Given the description of an element on the screen output the (x, y) to click on. 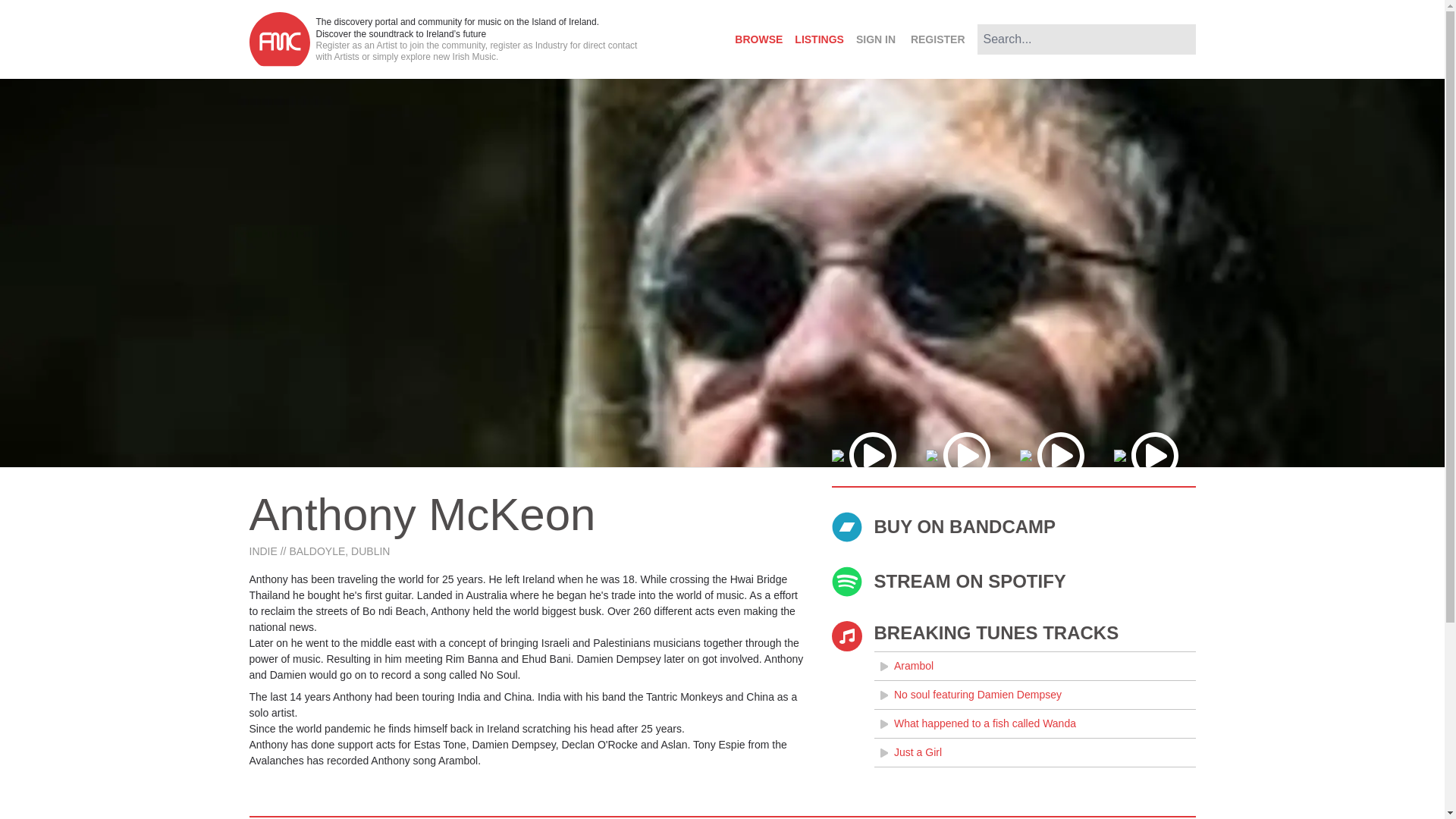
BUY ON BANDCAMP (1013, 526)
Just a Girl (1034, 752)
STREAM ON SPOTIFY (1013, 581)
What happened to a fish called Wanda (1034, 723)
SIGN IN (875, 39)
LISTINGS (819, 39)
Arambol (1034, 665)
BROWSE (759, 39)
REGISTER (937, 39)
No soul featuring Damien Dempsey (1034, 694)
